Given the description of an element on the screen output the (x, y) to click on. 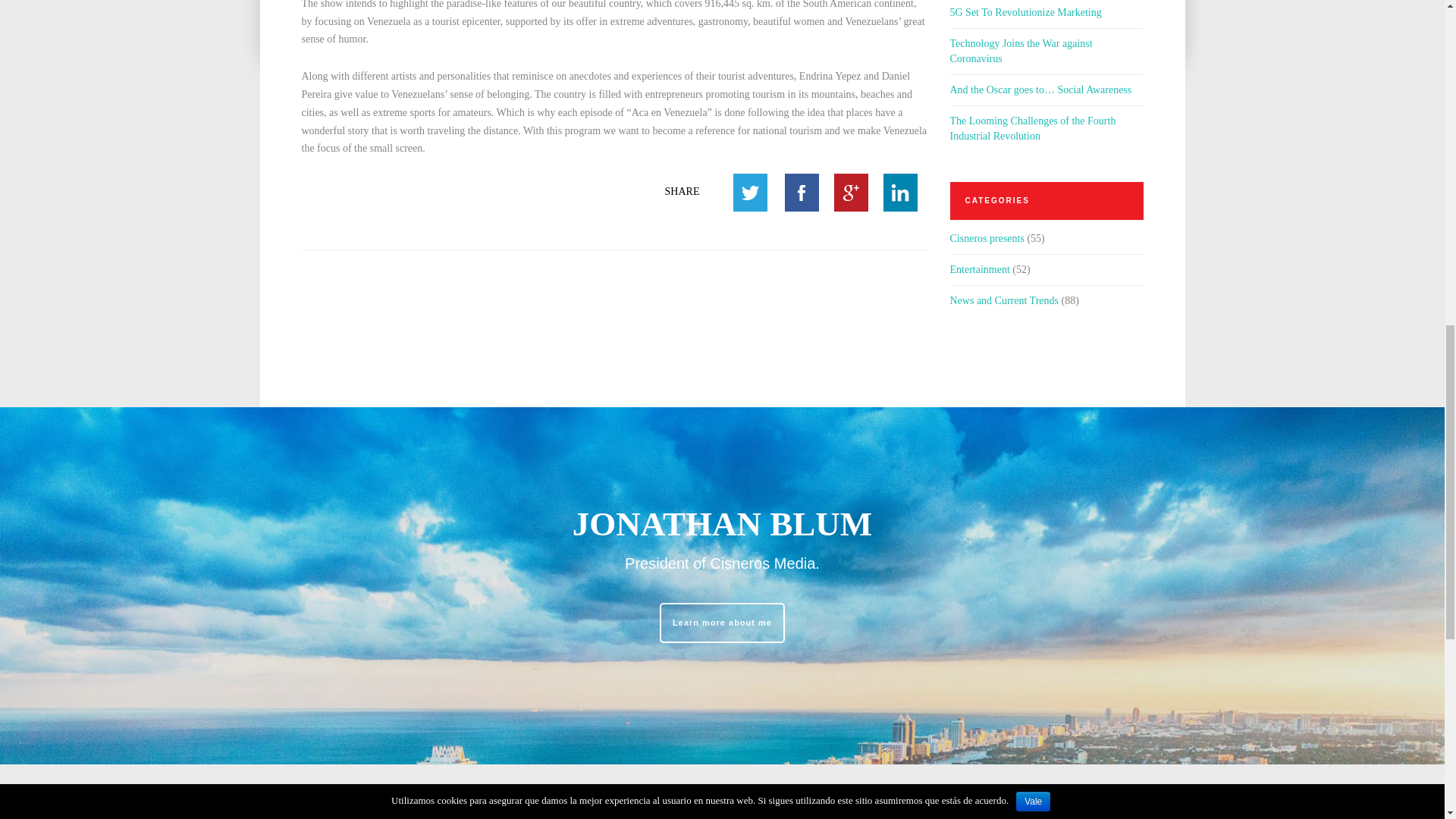
Technology Joins the War against Coronavirus (1045, 51)
The Looming Challenges of the Fourth Industrial Revolution (1045, 128)
Facebook (801, 192)
5G Set To Revolutionize Marketing (1024, 12)
Compartir en LinkedIn (899, 192)
Entertainment (979, 269)
Compartir en Facebook (801, 192)
News and Current Trends (1003, 300)
Linkedin (899, 192)
Cisneros presents (986, 238)
SHARE (682, 192)
Google (850, 192)
